Given the description of an element on the screen output the (x, y) to click on. 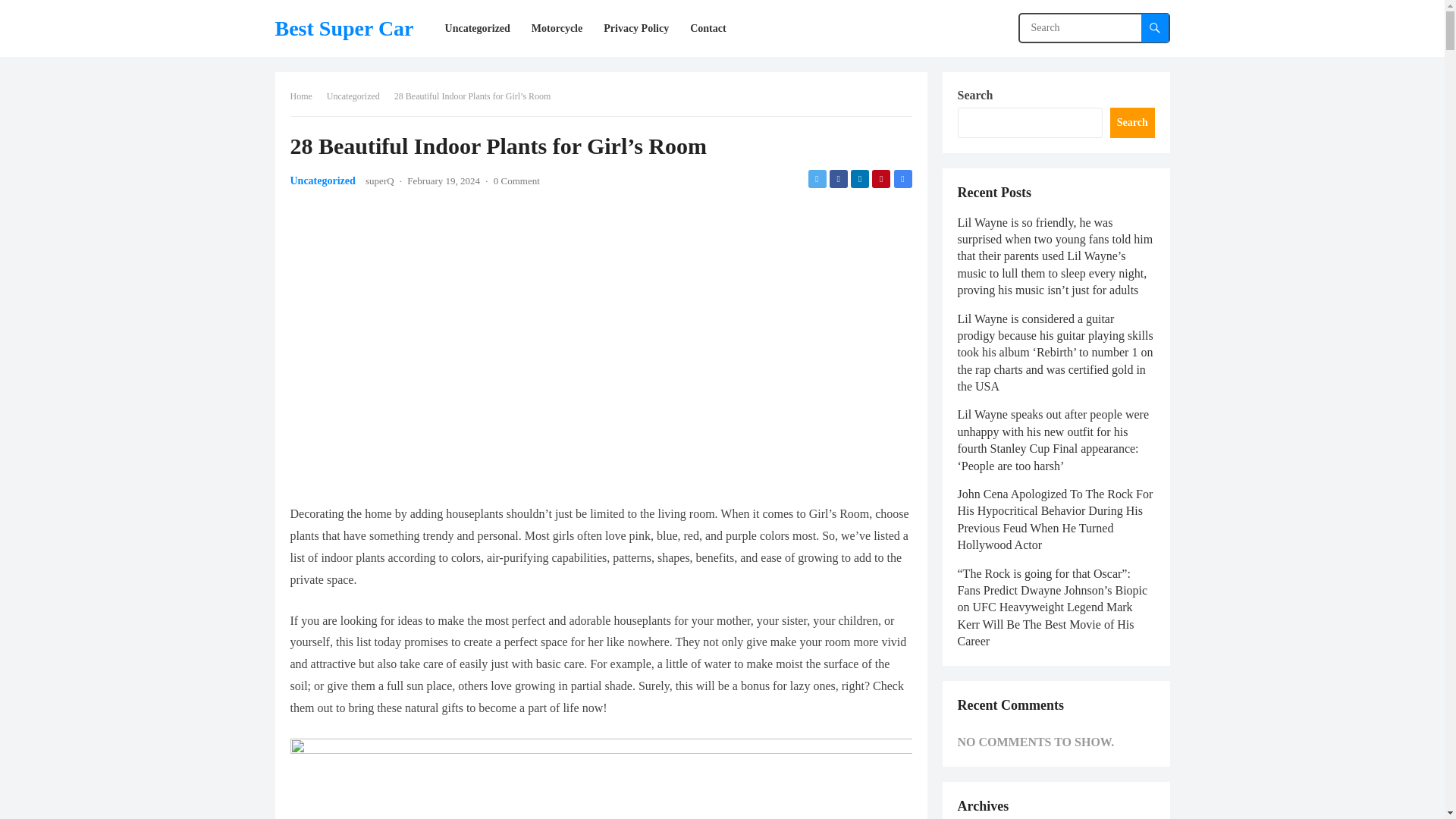
Posts by superQ (379, 180)
Uncategorized (322, 180)
Privacy Policy (636, 28)
Contact (708, 28)
superQ (379, 180)
Motorcycle (556, 28)
Uncategorized (477, 28)
Home (305, 95)
Best Super Car (344, 28)
0 Comment (516, 180)
